Given the description of an element on the screen output the (x, y) to click on. 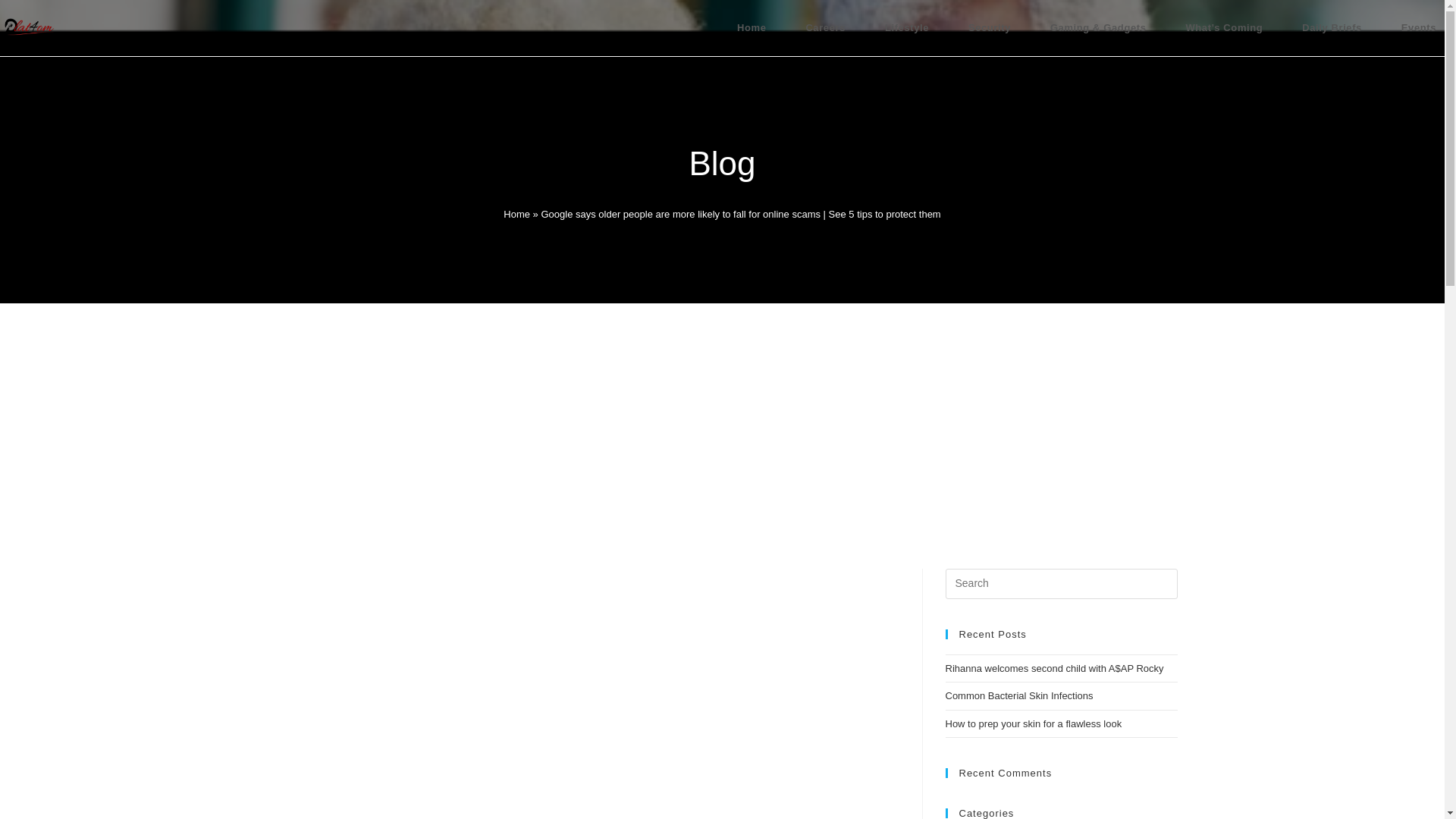
Security (989, 28)
Daily Briefs (1331, 28)
Home (751, 28)
Home (516, 214)
Careers (825, 28)
Lifestyle (906, 28)
